Given the description of an element on the screen output the (x, y) to click on. 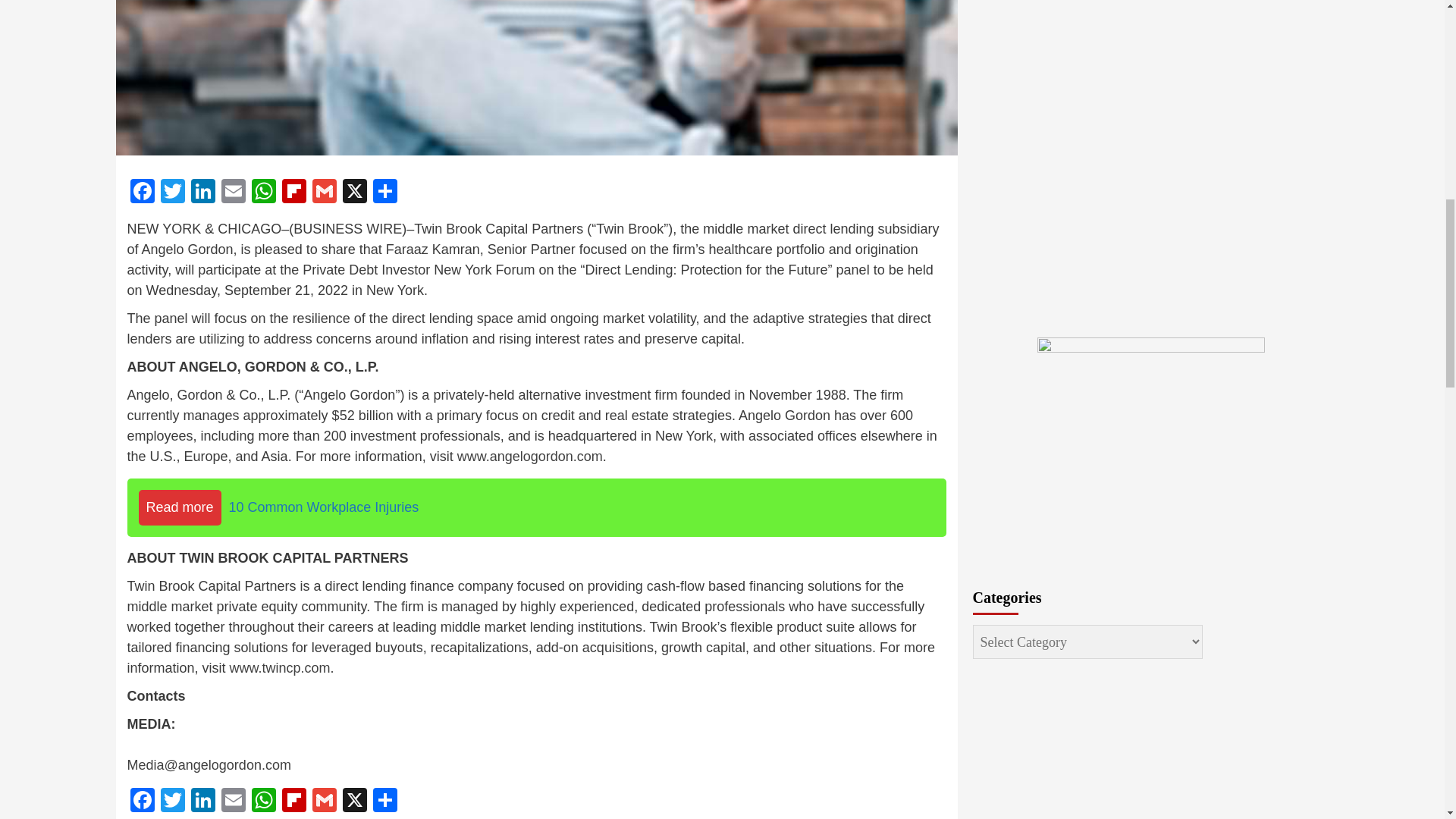
Share (384, 801)
LinkedIn (202, 193)
X (354, 193)
Flipboard (293, 193)
LinkedIn (202, 801)
Email (233, 193)
WhatsApp (263, 193)
LinkedIn (202, 193)
Email (233, 801)
X (354, 193)
